Given the description of an element on the screen output the (x, y) to click on. 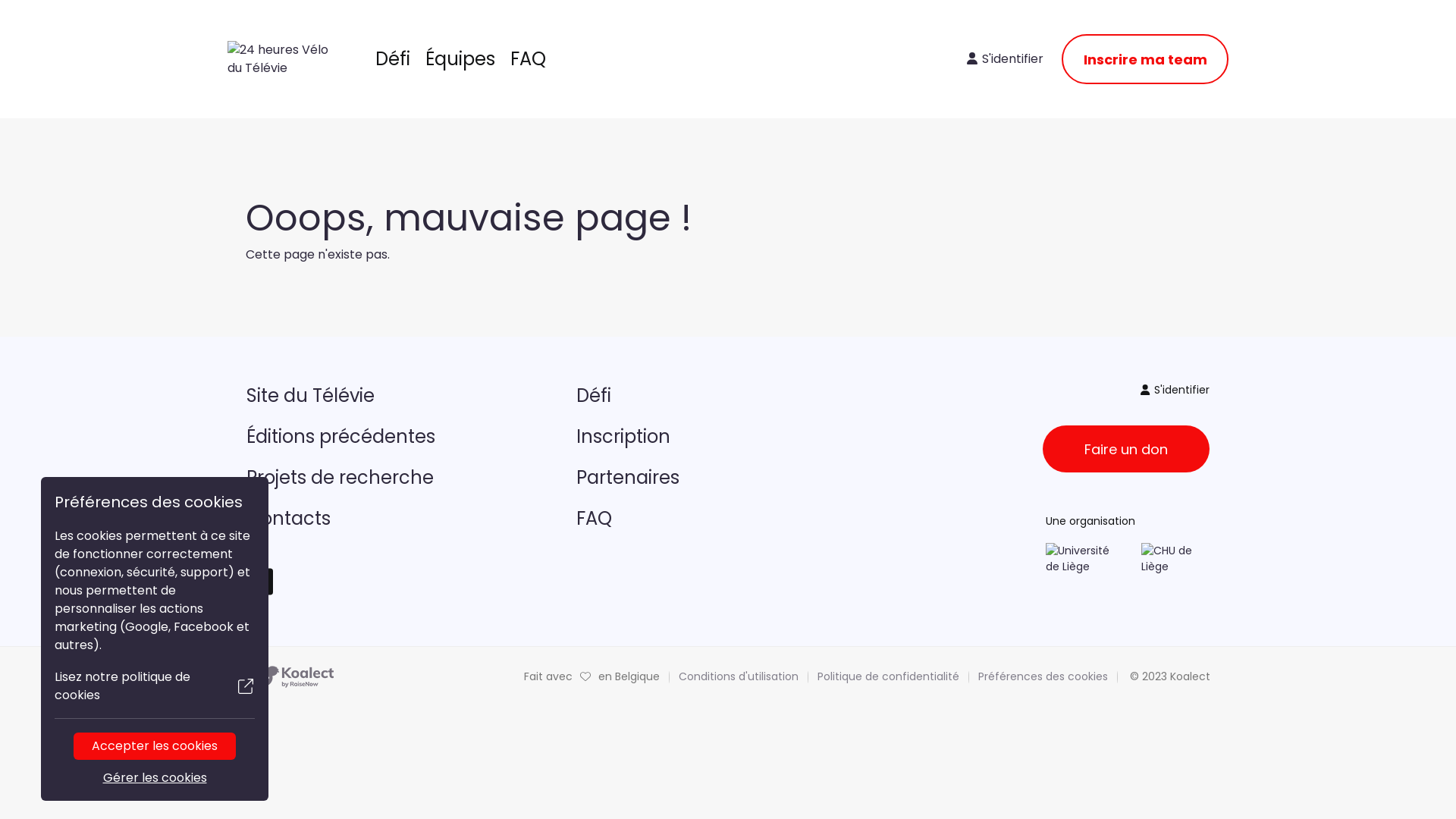
Inscrire ma team Element type: text (1144, 59)
S'identifier Element type: text (1174, 390)
Projets de recherche Element type: text (397, 477)
Accepter les cookies Element type: text (154, 745)
FAQ Element type: text (528, 58)
Faire un don Element type: text (1125, 448)
Inscription Element type: text (727, 436)
Partenaires Element type: text (727, 477)
Contacts Element type: text (397, 518)
Lisez notre politique de cookies Element type: text (154, 686)
FAQ Element type: text (727, 518)
Conditions d'utilisation Element type: text (738, 676)
S'identifier Element type: text (1004, 59)
Facebook Element type: text (259, 581)
